Given the description of an element on the screen output the (x, y) to click on. 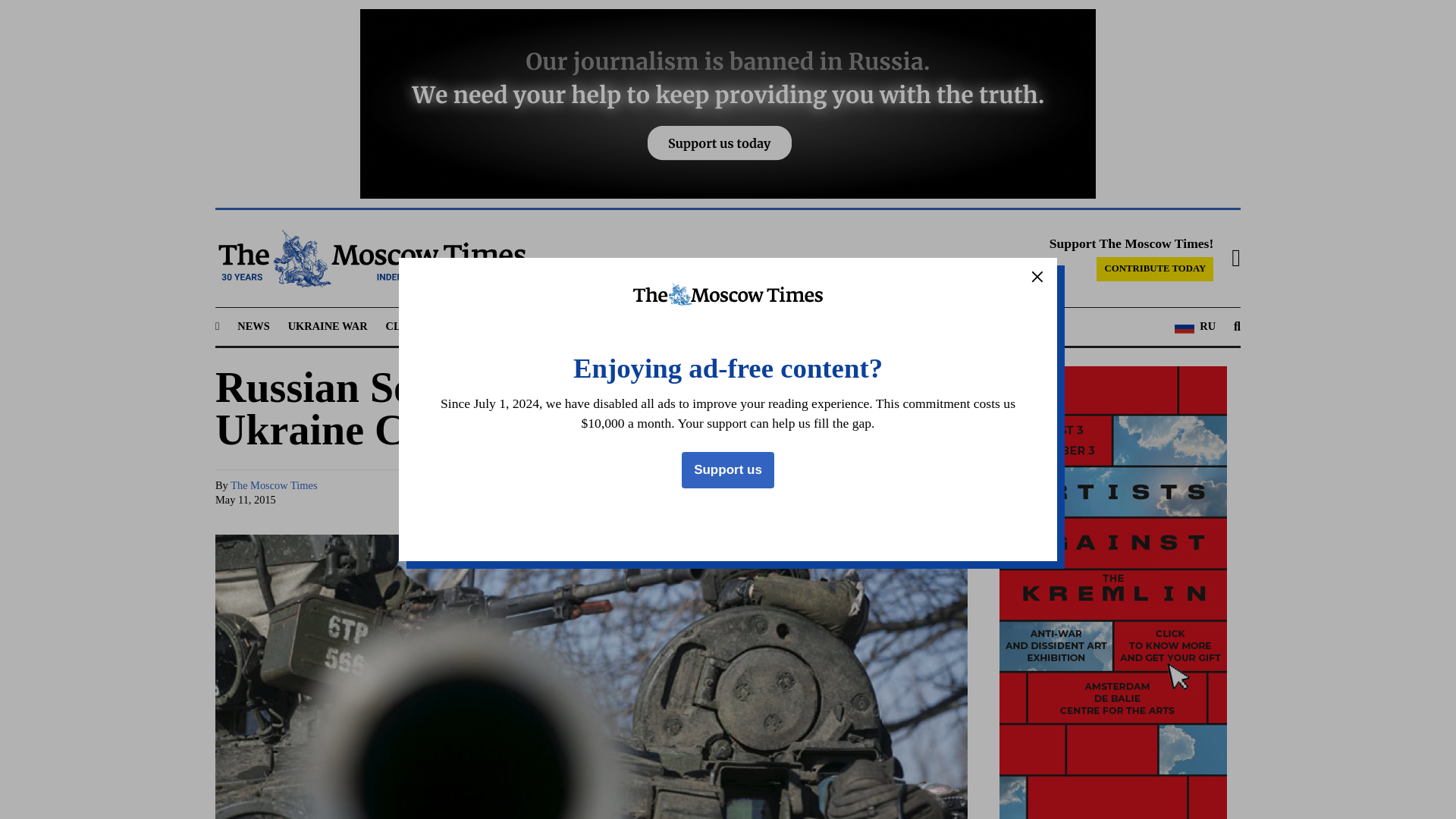
Support us (727, 470)
Share on Telegram (838, 492)
The Moscow Times (273, 485)
ARCHIVE (853, 326)
Share on Facebook (781, 492)
PODCASTS (780, 326)
MEANWHILE (629, 326)
CLIMATE (411, 326)
Share on Twitter (810, 492)
OPINION (708, 326)
UKRAINE WAR (328, 326)
Share on Flipboard (925, 492)
The Moscow Times - Independent News from Russia (370, 258)
RU (1194, 326)
BUSINESS (550, 326)
